Given the description of an element on the screen output the (x, y) to click on. 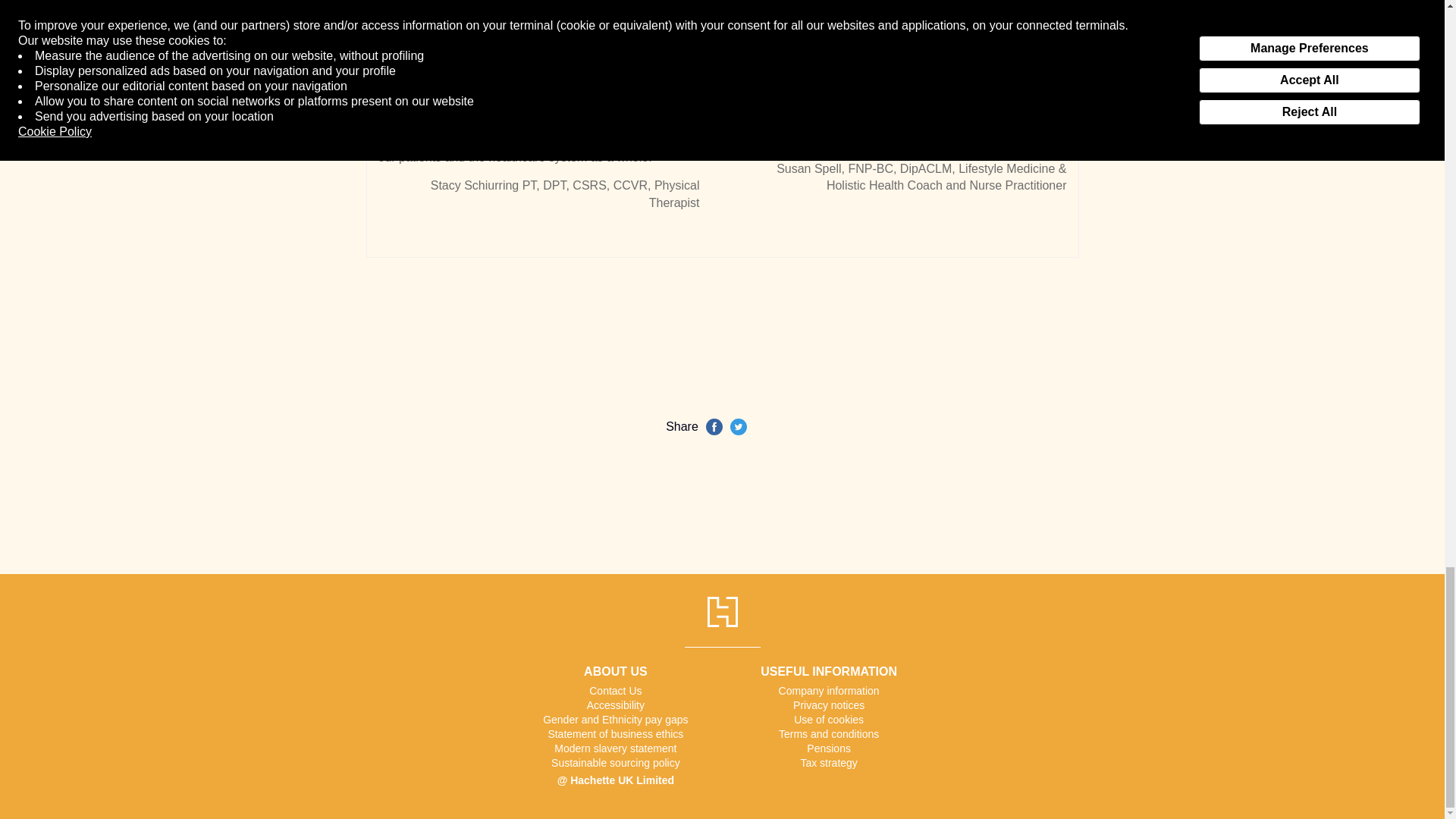
Hachette Logo Large H Initial (721, 612)
